Given the description of an element on the screen output the (x, y) to click on. 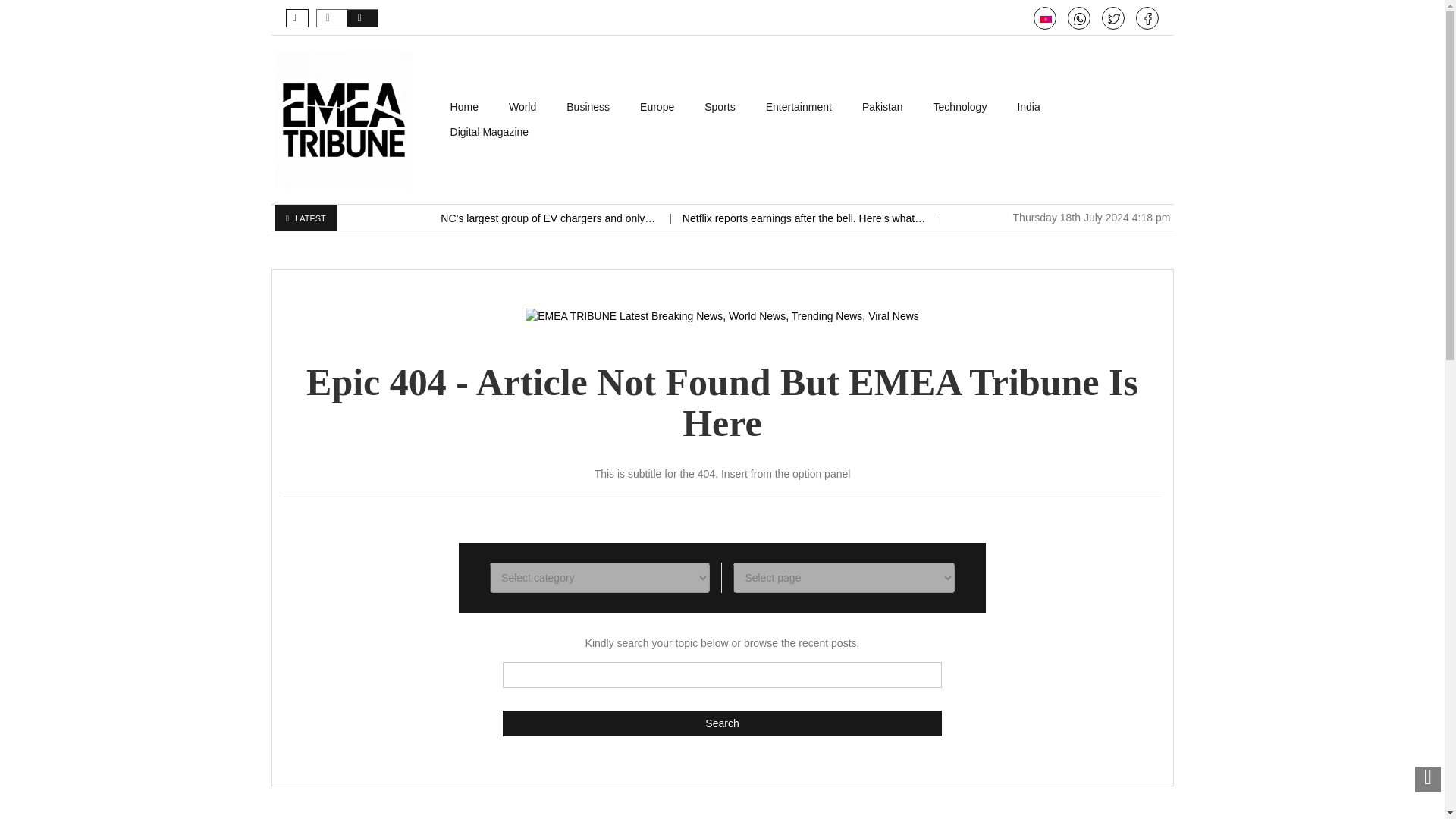
Skip to content (470, 102)
Technology (960, 107)
Entertainment (799, 107)
Sports (718, 107)
Twitter (1113, 19)
Digital Magazine (489, 131)
India (1027, 107)
Search (722, 723)
Search (722, 723)
Business (587, 107)
Facebook (1147, 19)
Home (464, 107)
World (522, 107)
Europe (656, 107)
Skip to content (470, 102)
